Given the description of an element on the screen output the (x, y) to click on. 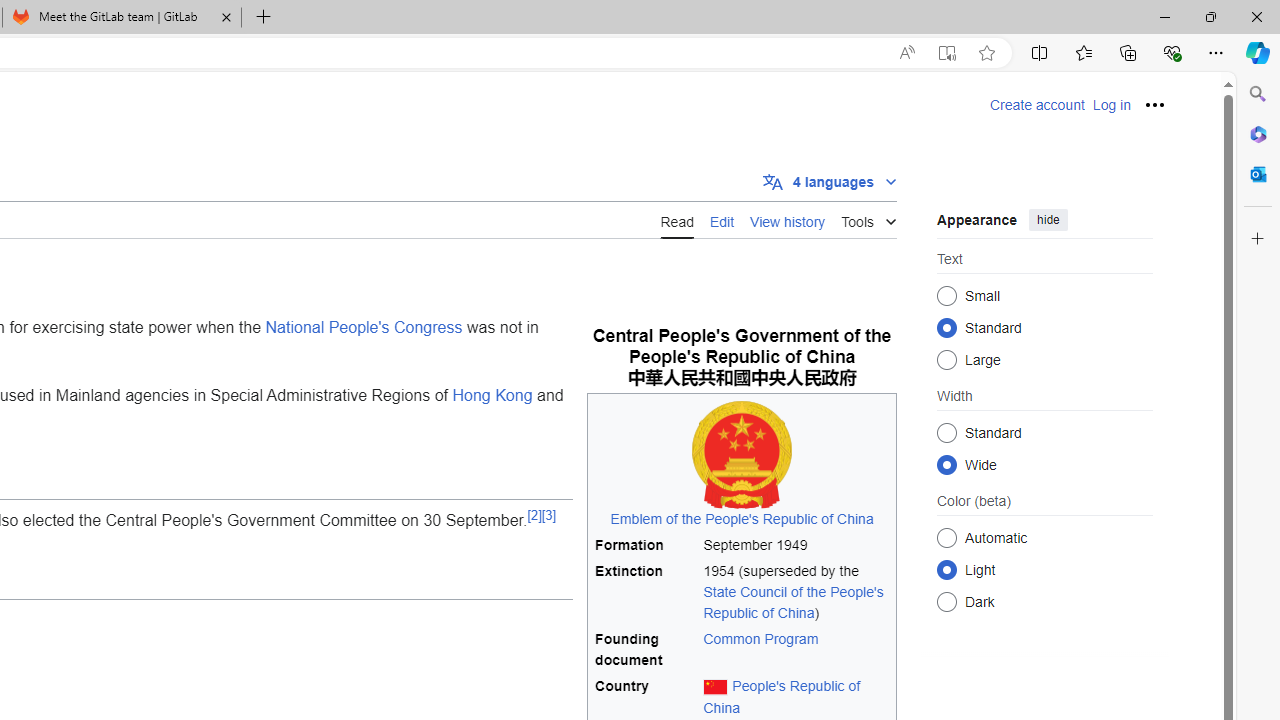
Large (946, 359)
People's Republic of China (781, 696)
Emblem of the People's Republic of China (741, 464)
Founding document (646, 650)
[2] (534, 514)
Tools (868, 218)
Wide (946, 464)
Create account (1037, 105)
